Given the description of an element on the screen output the (x, y) to click on. 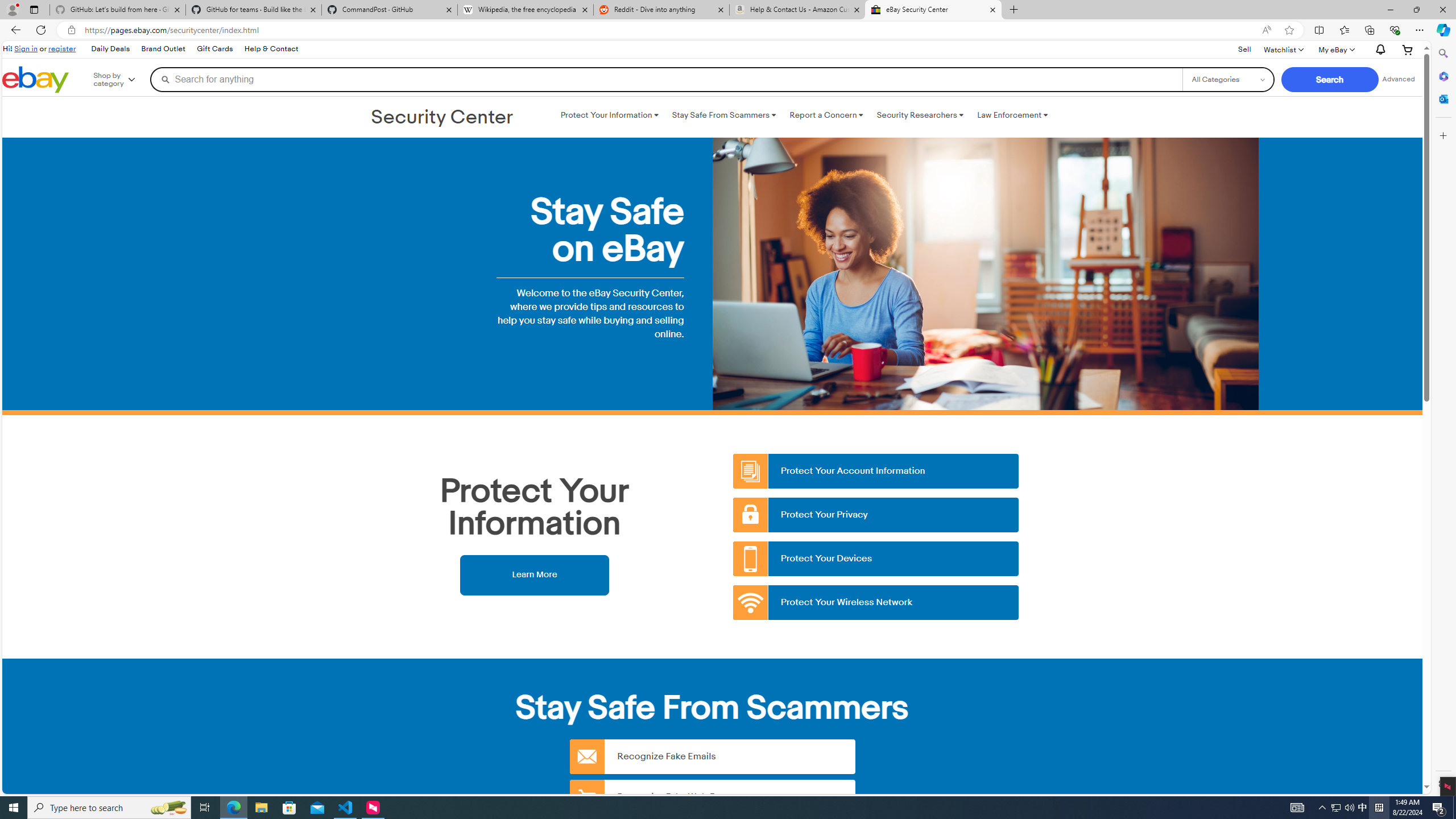
Report a Concern  (826, 115)
Security Researchers  (919, 115)
Help & Contact (271, 49)
Recognize Fake Emails (712, 756)
Protect Your Devices (876, 558)
My eBay (1335, 49)
eBay Home (35, 79)
